Given the description of an element on the screen output the (x, y) to click on. 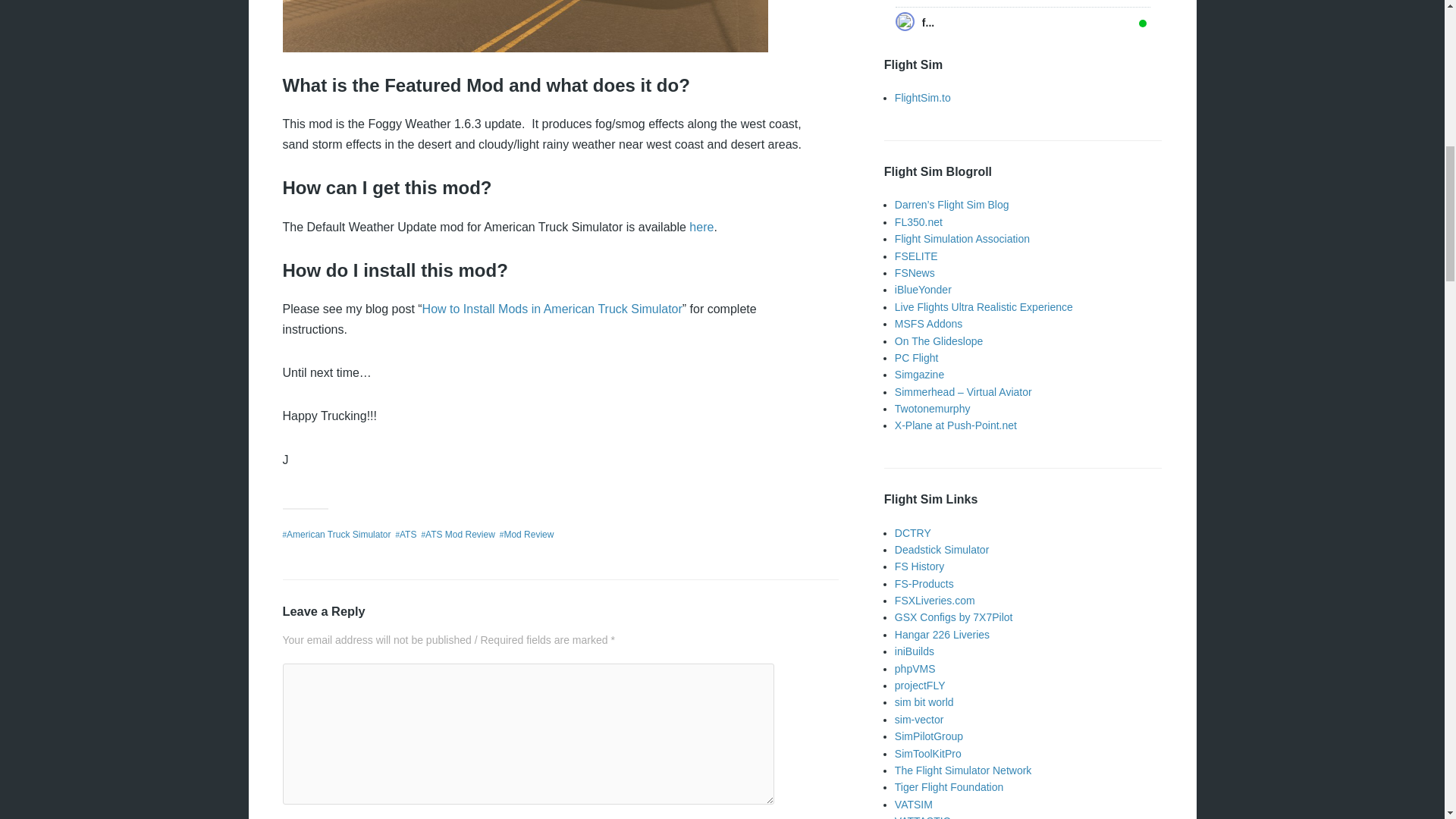
How to Install Mods in American Truck Simulator (552, 308)
ATS Mod Review (460, 534)
FlightSim.to (922, 97)
American Truck Simulator (338, 534)
ATS (407, 534)
Mod Review (528, 534)
here (700, 226)
